Given the description of an element on the screen output the (x, y) to click on. 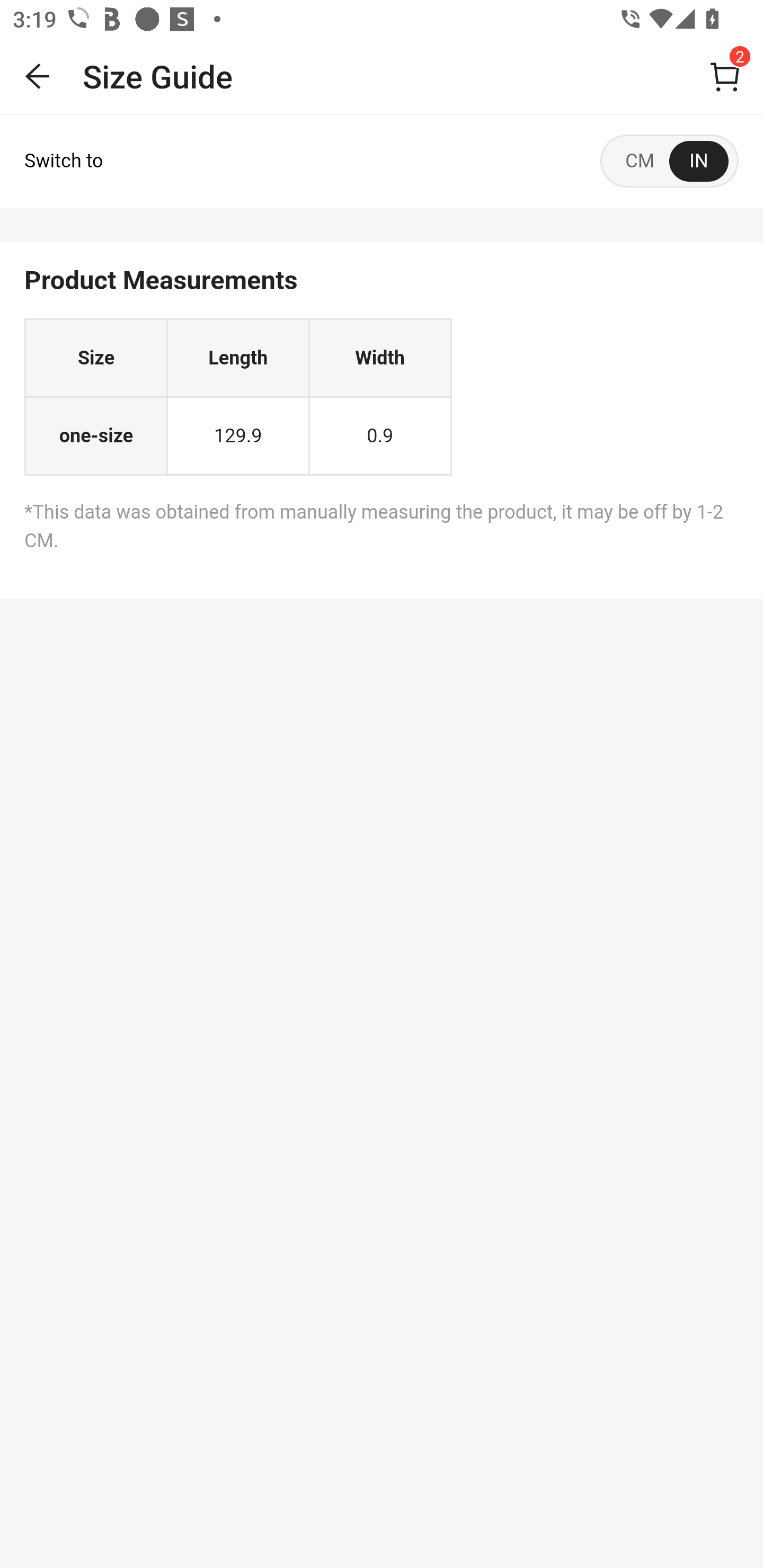
BACK (38, 75)
Cart 2 (724, 75)
CM (640, 161)
IN (699, 161)
